Given the description of an element on the screen output the (x, y) to click on. 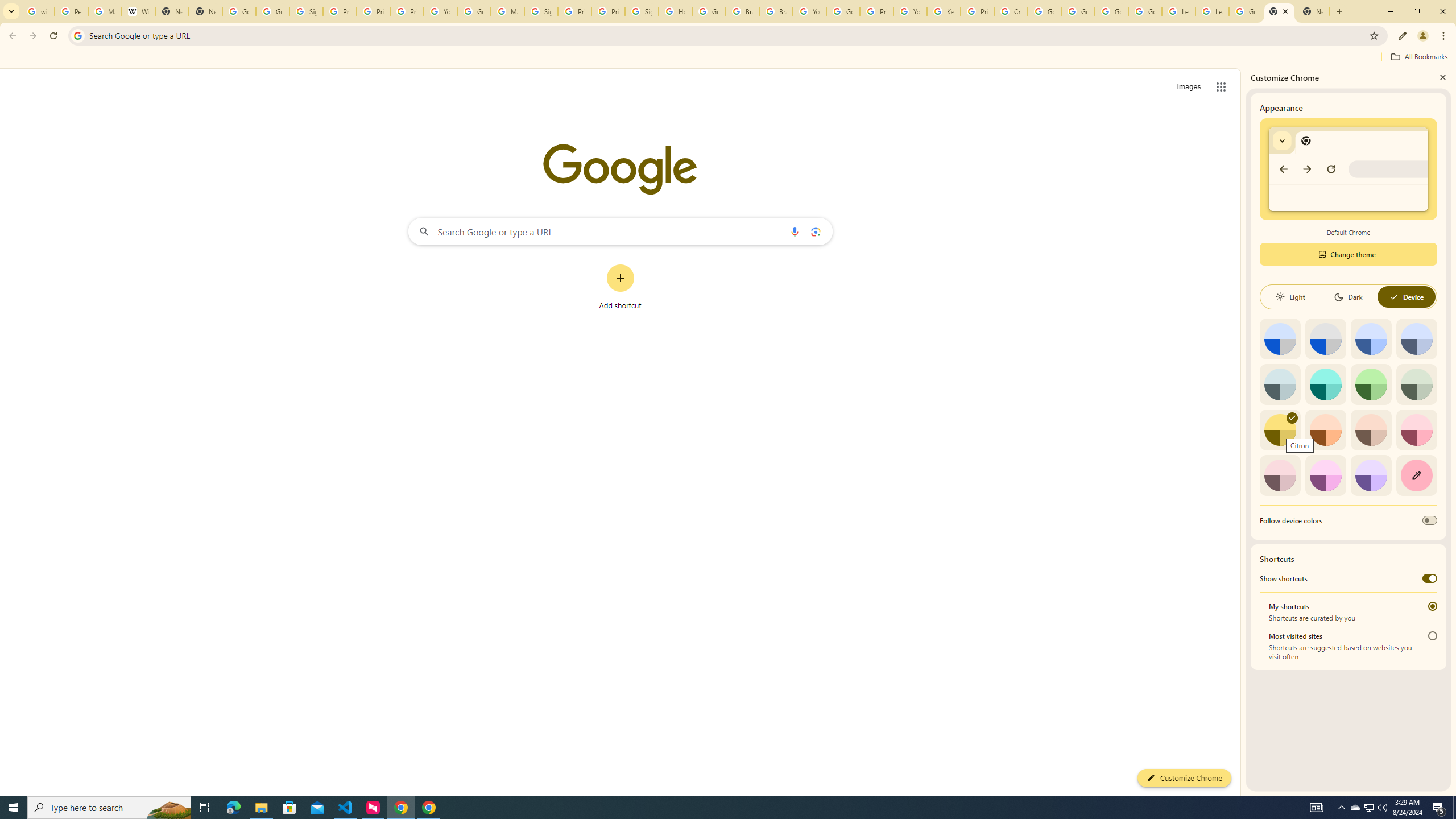
Default color (1279, 338)
Sign in - Google Accounts (541, 11)
Pink (1279, 475)
Google Account Help (1077, 11)
Grey (1279, 383)
Sign in - Google Accounts (641, 11)
Google Account (1246, 11)
New Tab (205, 11)
